Given the description of an element on the screen output the (x, y) to click on. 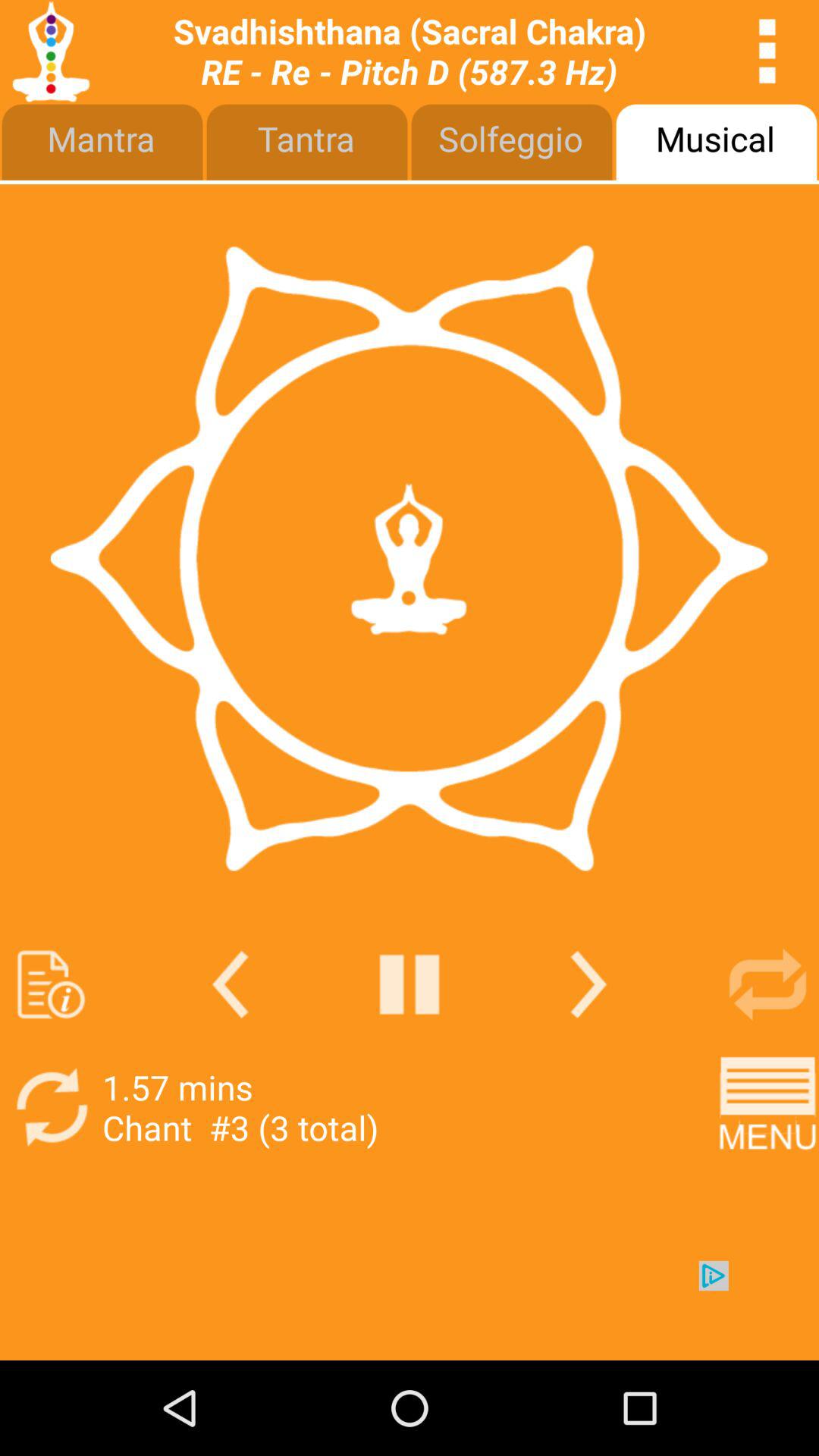
go to menu (767, 1107)
